Given the description of an element on the screen output the (x, y) to click on. 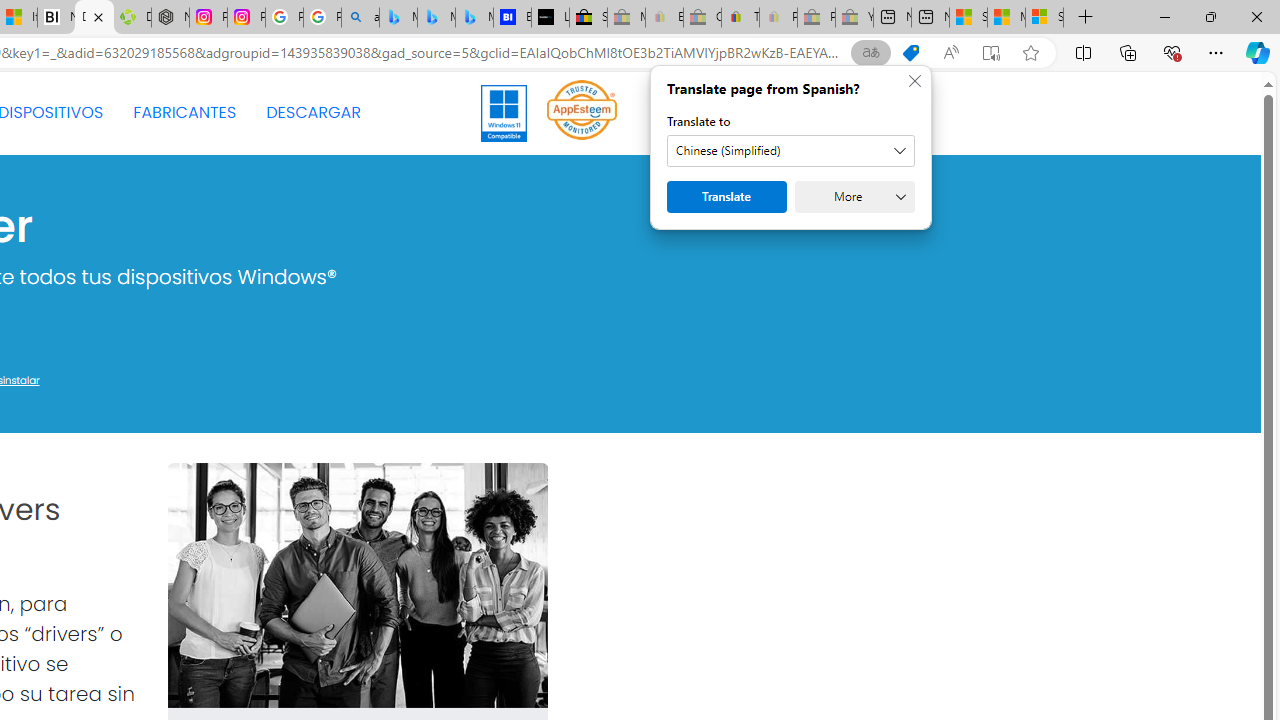
Enter Immersive Reader (F9) (991, 53)
Descarga Driver Updater (132, 17)
More (854, 196)
Selling on eBay | Electronics, Fashion, Home & Garden | eBay (587, 17)
Yard, Garden & Outdoor Living - Sleeping (853, 17)
DESCARGAR (313, 112)
Nvidia va a poner a prueba la paciencia de los inversores (56, 17)
FABRICANTES (184, 112)
App Esteem (582, 112)
